Given the description of an element on the screen output the (x, y) to click on. 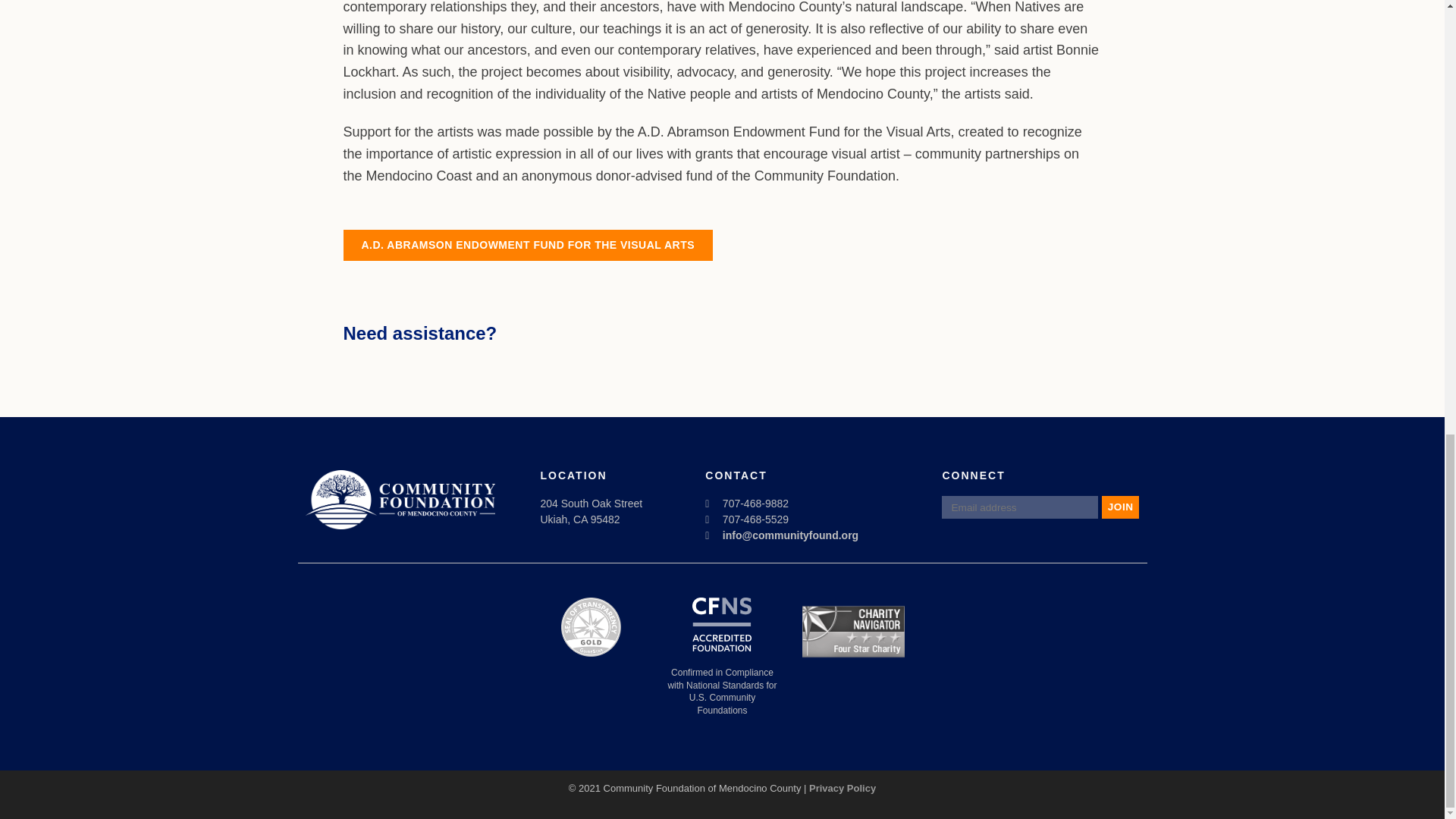
Join (1121, 507)
